Given the description of an element on the screen output the (x, y) to click on. 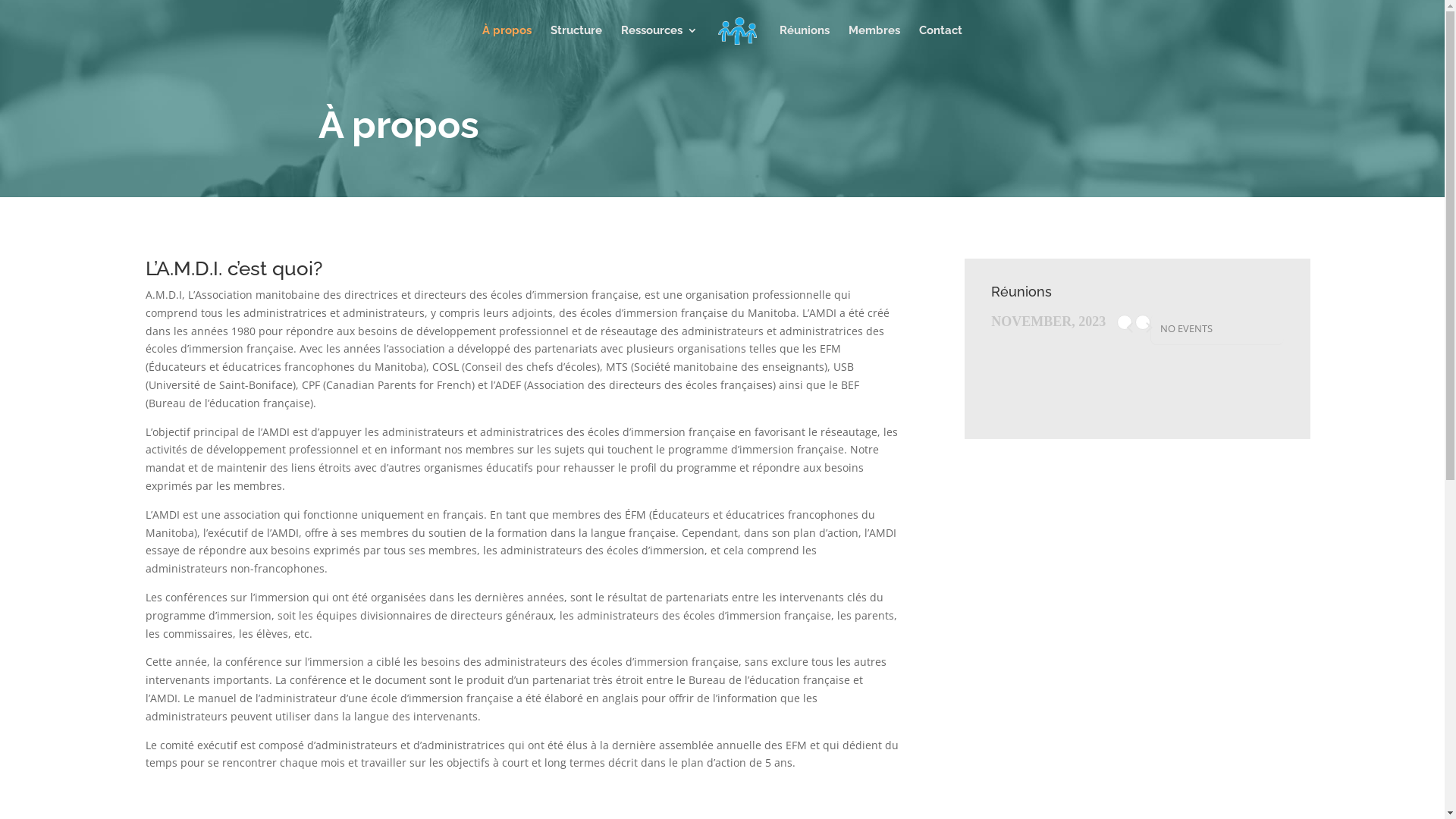
Structure Element type: text (576, 42)
Ressources Element type: text (659, 42)
Membres Element type: text (874, 42)
Contact Element type: text (940, 42)
